Given the description of an element on the screen output the (x, y) to click on. 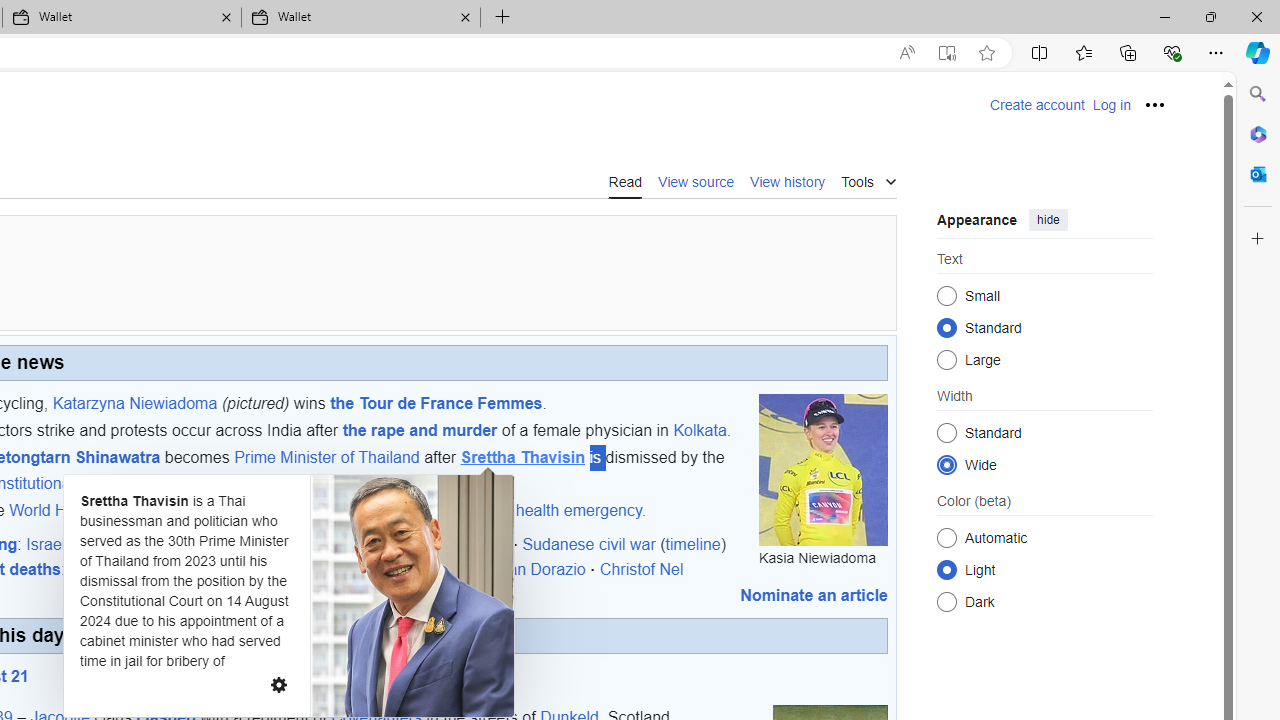
Silvio Santos (326, 569)
